Given the description of an element on the screen output the (x, y) to click on. 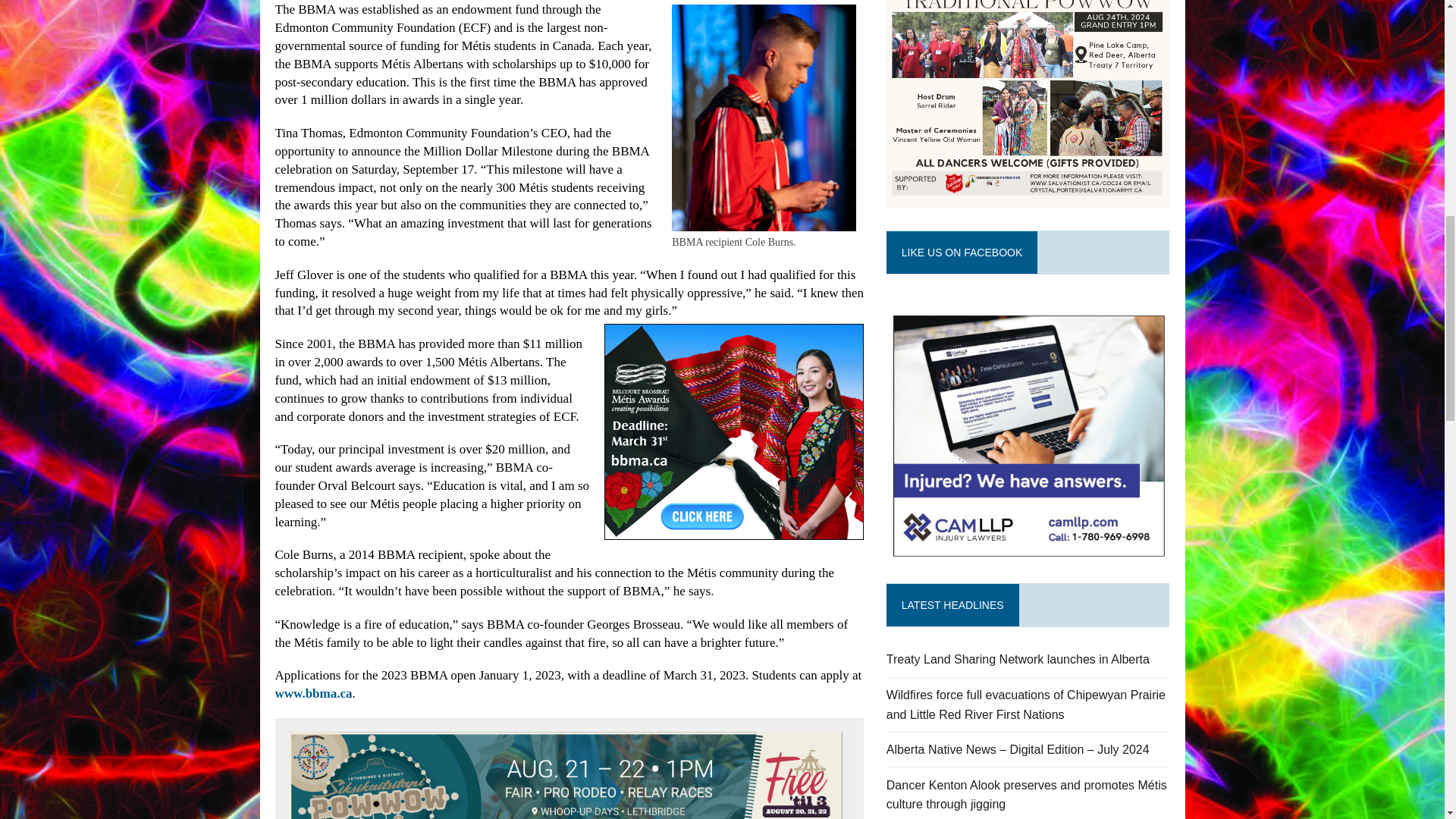
Treaty Land Sharing Network launches in Alberta (1018, 658)
